Given the description of an element on the screen output the (x, y) to click on. 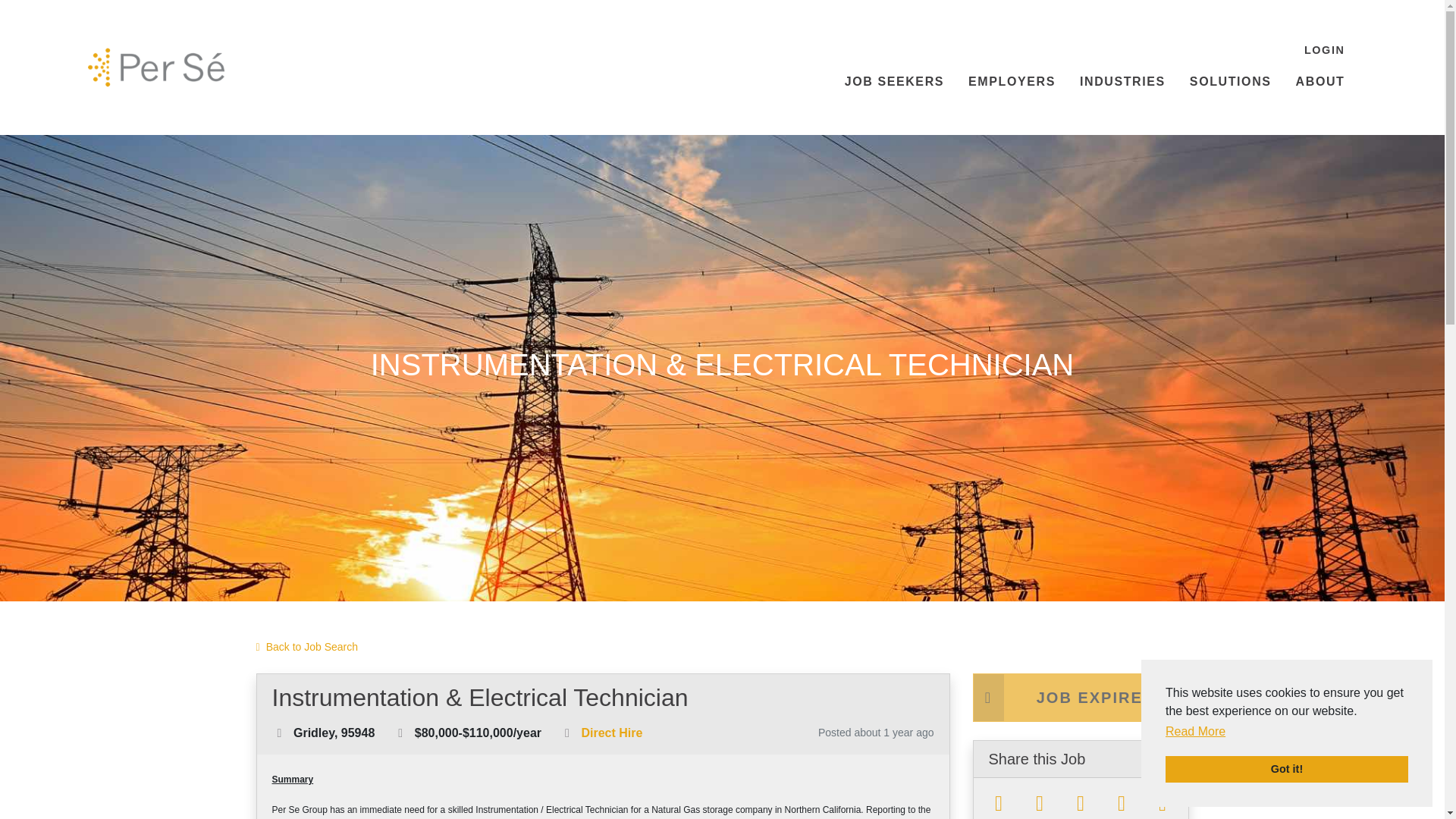
Got it! (1286, 768)
Compensation (400, 733)
ABOUT (1320, 82)
JOB SEEKERS (894, 82)
Read More (1195, 731)
JOB EXPIRED (1080, 697)
Back to Job Search (307, 647)
Job Type (567, 733)
LOGIN (1324, 51)
Direct Hire (611, 732)
EMPLOYERS (1011, 82)
INDUSTRIES (1122, 82)
Location (278, 733)
SOLUTIONS (1230, 82)
